Given the description of an element on the screen output the (x, y) to click on. 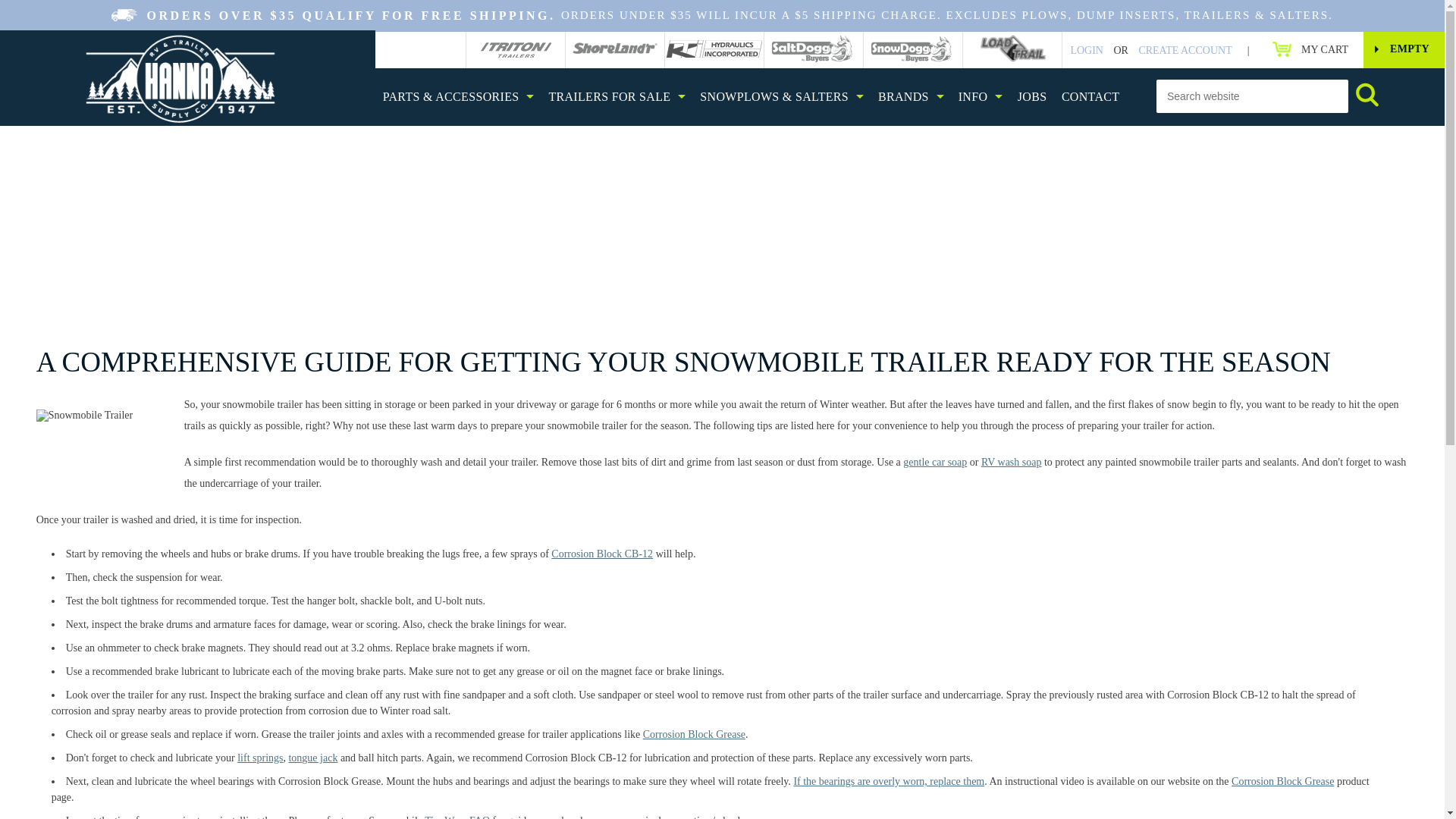
shorelander trailer parts (614, 49)
Review your shopping cart (1310, 47)
snow plow replacement parts (616, 96)
triton snowmobile trailer parts and accessories (912, 49)
MY CART (514, 49)
salt spreader accessories (1310, 47)
LOGIN (813, 49)
salt spreader accessories (1086, 50)
CREATE ACCOUNT (813, 49)
shorelander trailer parts (1185, 50)
snow plow replacement parts (614, 49)
pop up rv replacement accessories (912, 49)
triton snowmobile trailer parts and accessories (180, 79)
